Given the description of an element on the screen output the (x, y) to click on. 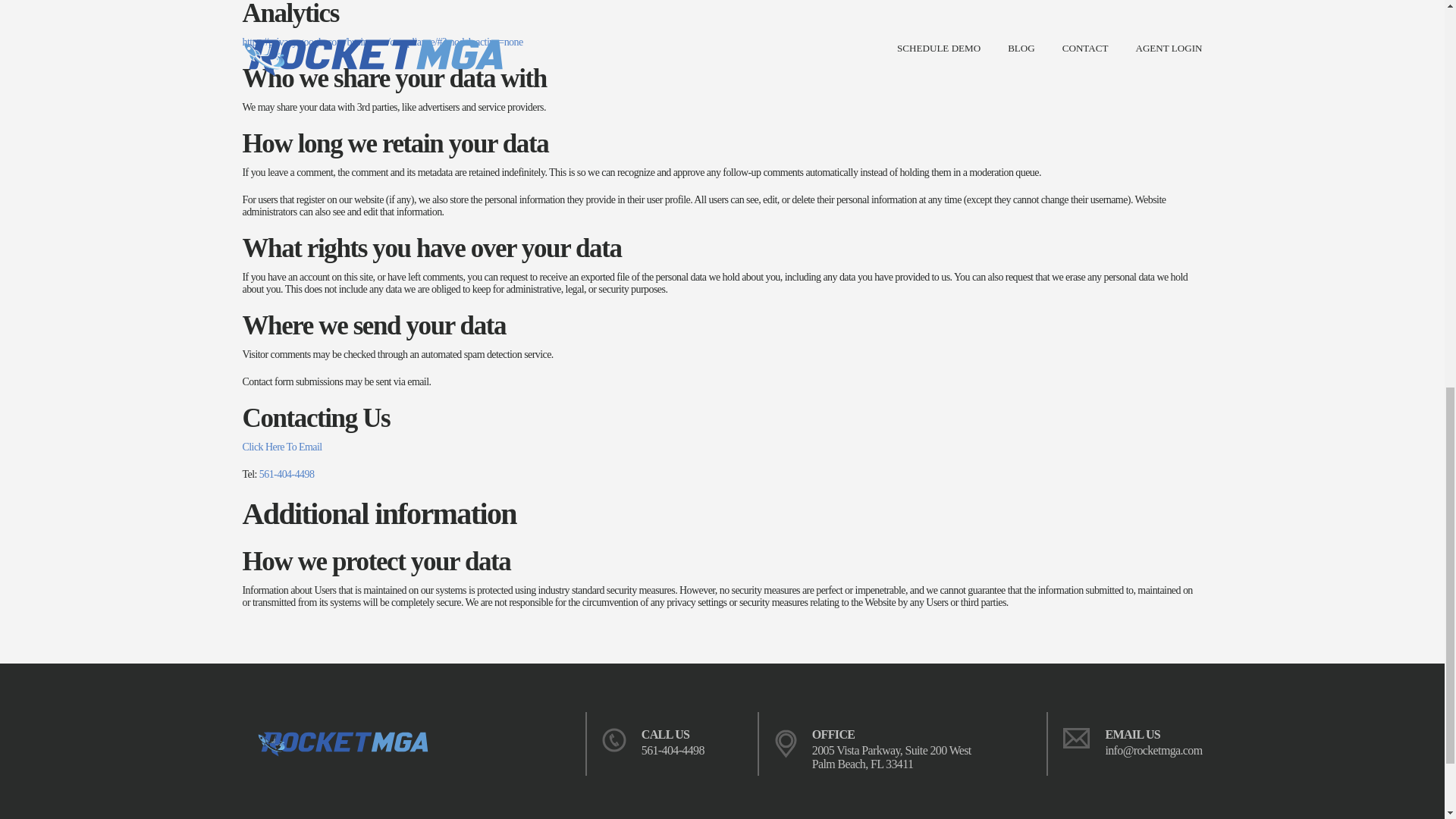
2005 Vista Parkway, Suite 200 West Palm Beach, FL 33411 (891, 756)
Click Here To Email (282, 446)
561-404-4498 (286, 473)
561-404-4498 (673, 749)
